Given the description of an element on the screen output the (x, y) to click on. 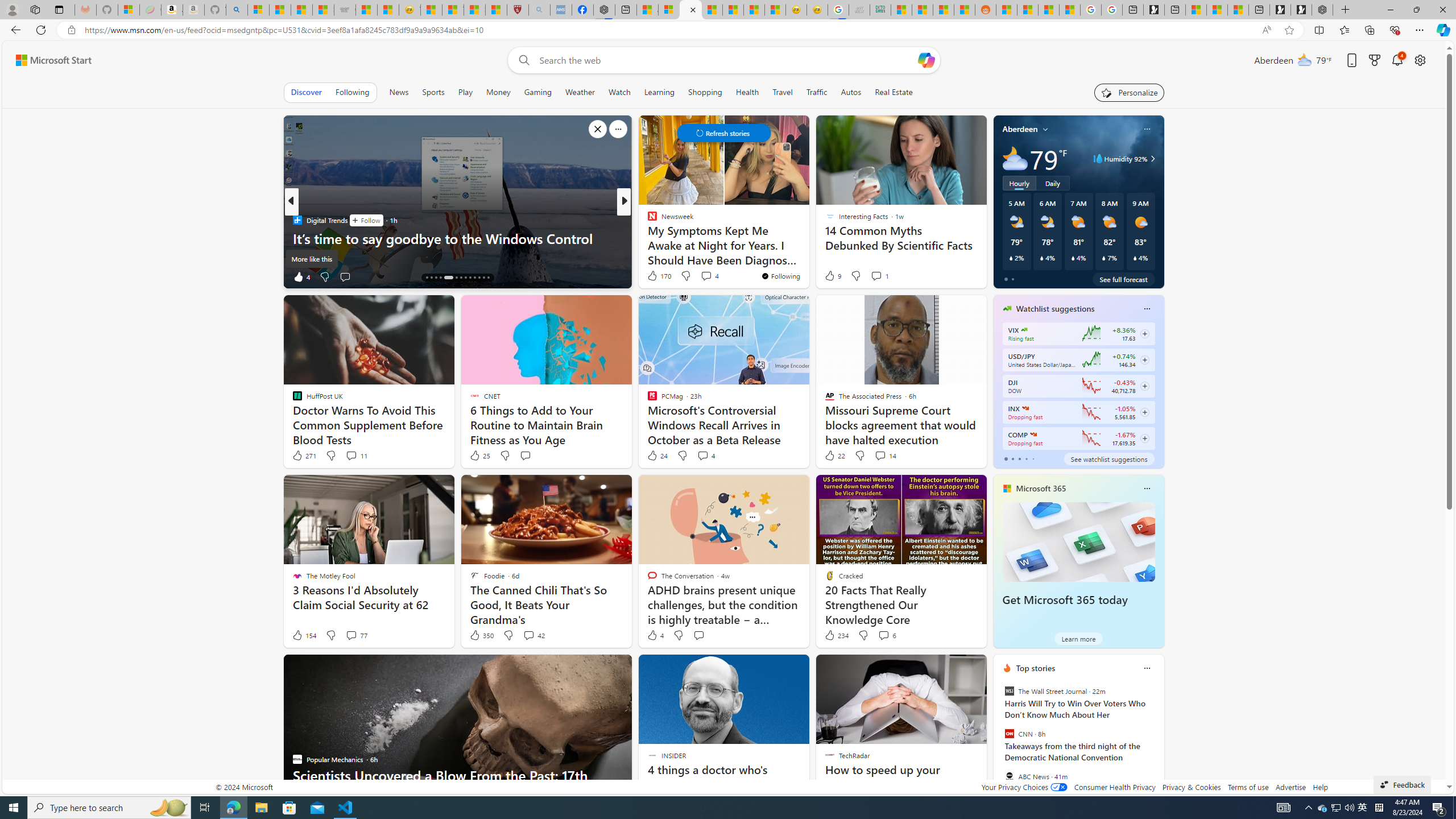
236 Like (654, 276)
Class: weather-arrow-glyph (1152, 158)
9 Like (831, 275)
next (1158, 741)
20 Ways To Embrace Aging Gracefully After Age 75 (807, 256)
